Given the description of an element on the screen output the (x, y) to click on. 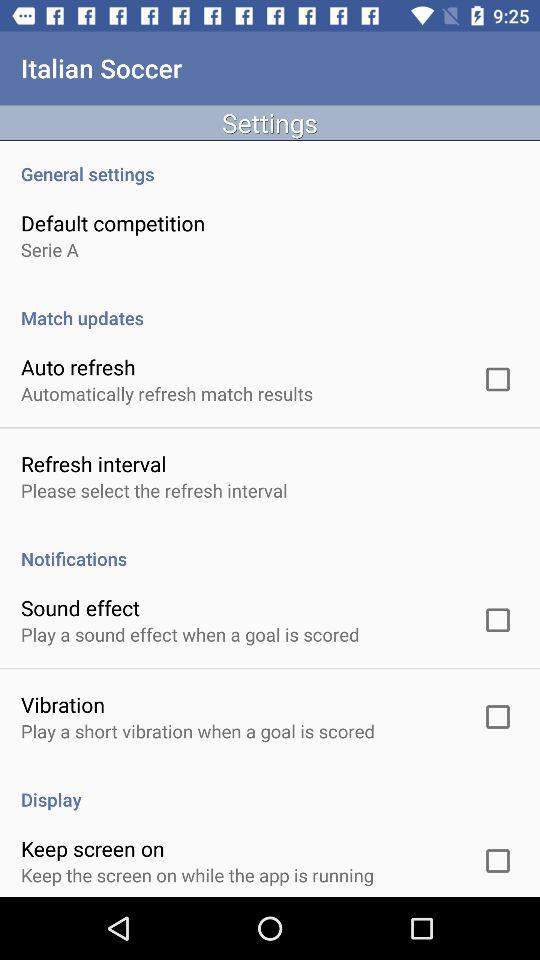
select app above the sound effect item (270, 548)
